Given the description of an element on the screen output the (x, y) to click on. 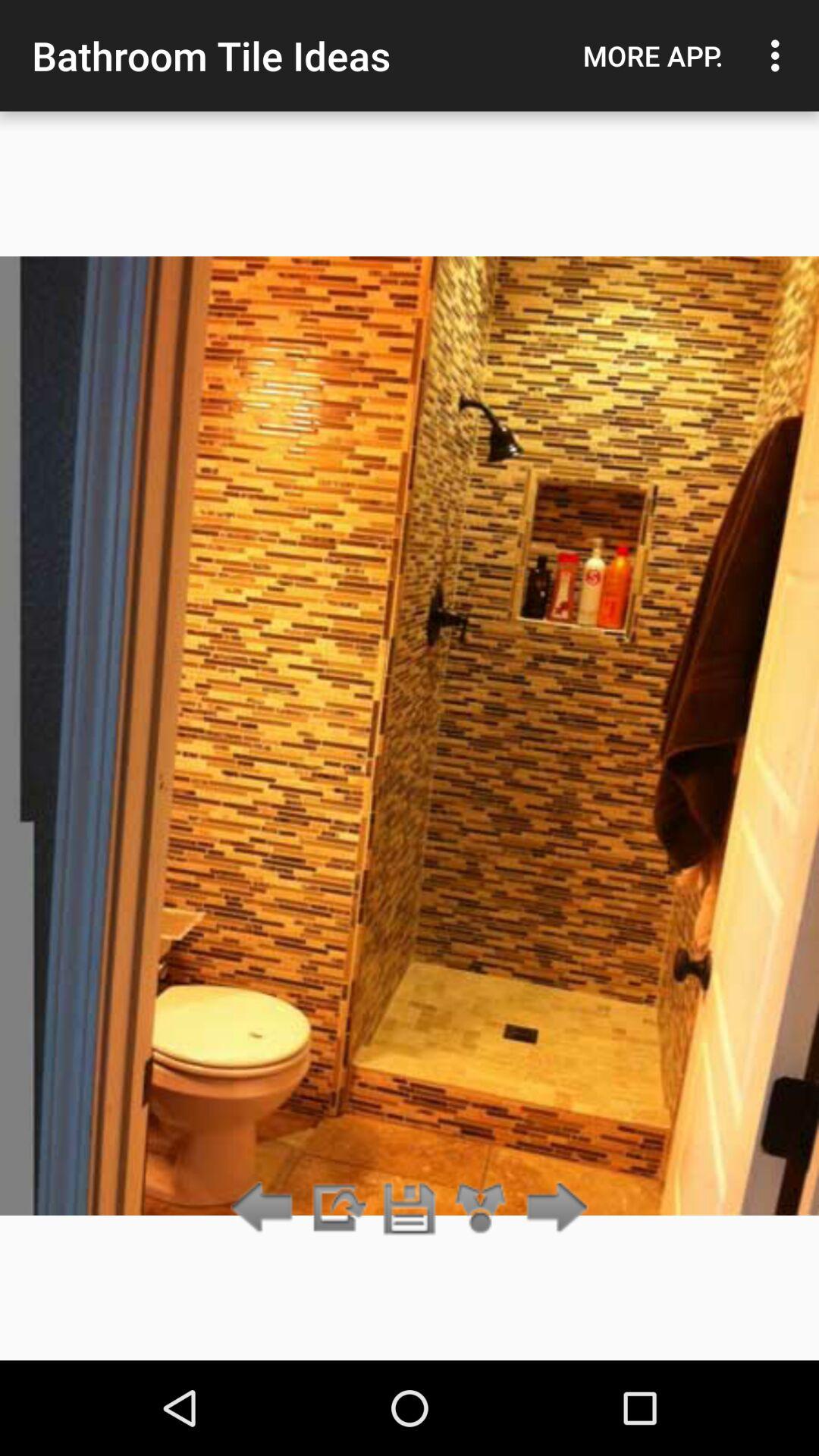
save image (409, 1208)
